Given the description of an element on the screen output the (x, y) to click on. 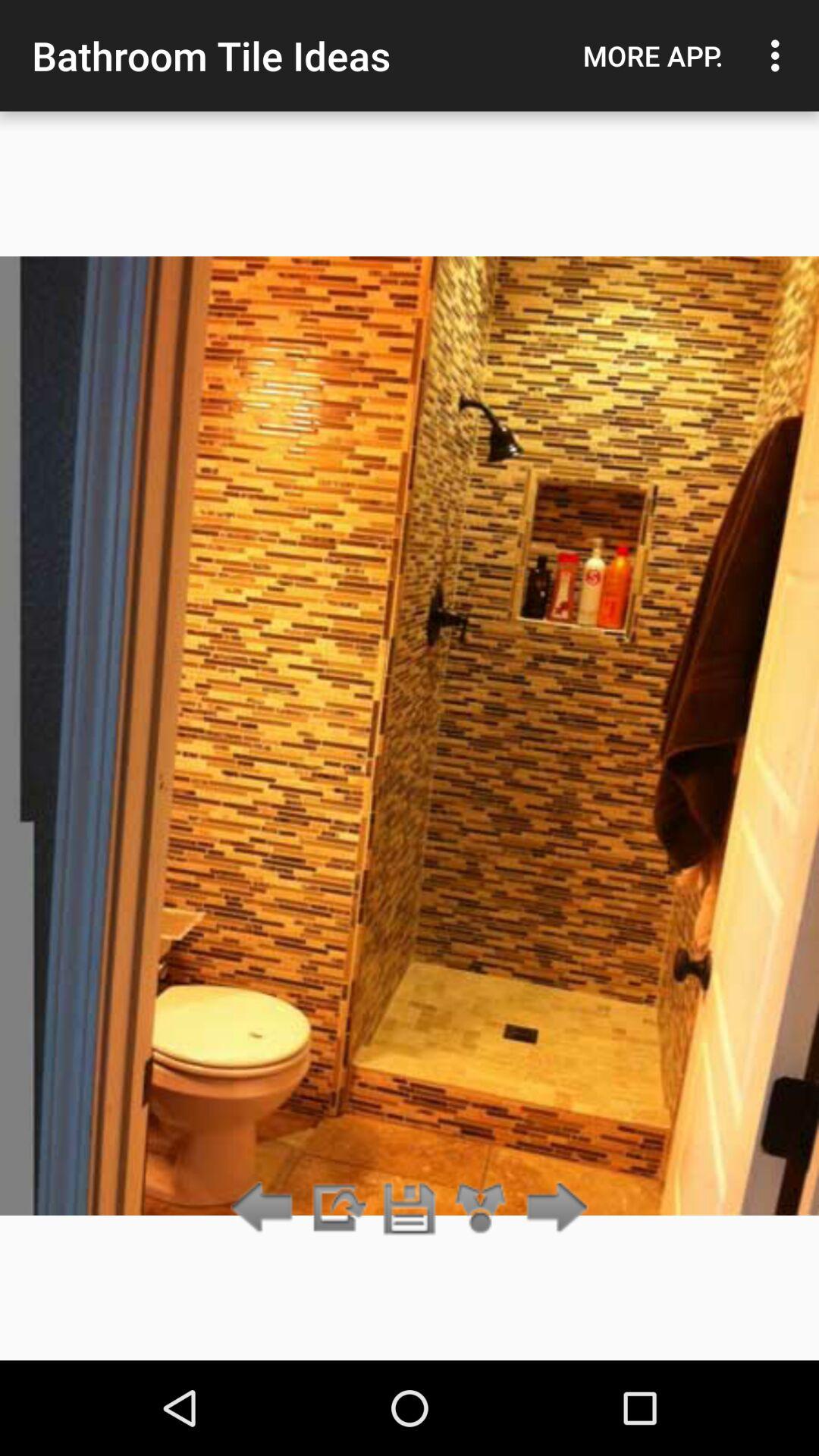
save image (409, 1208)
